Given the description of an element on the screen output the (x, y) to click on. 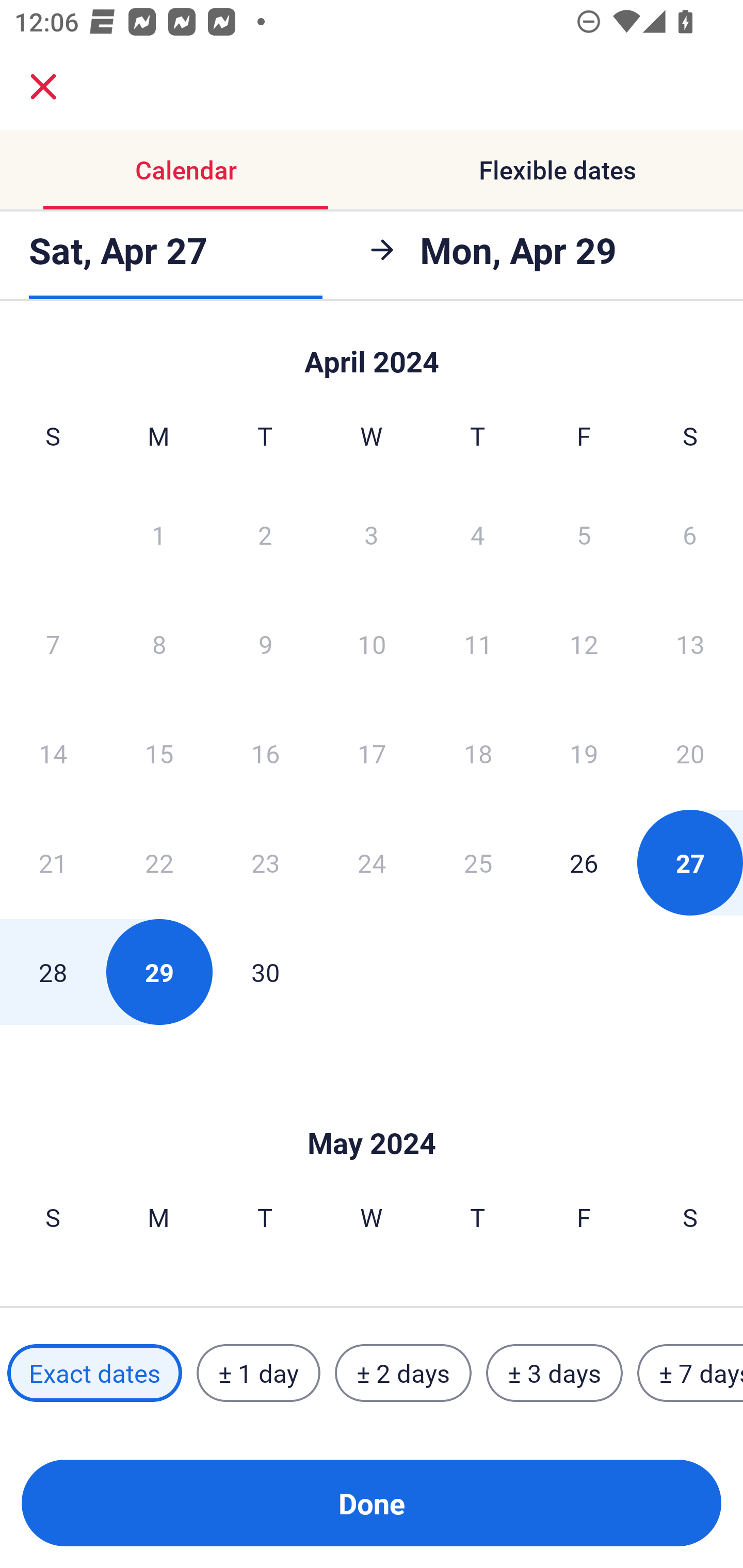
close. (43, 86)
Flexible dates (557, 170)
Skip to Done (371, 352)
1 Monday, April 1, 2024 (158, 534)
2 Tuesday, April 2, 2024 (264, 534)
3 Wednesday, April 3, 2024 (371, 534)
4 Thursday, April 4, 2024 (477, 534)
5 Friday, April 5, 2024 (583, 534)
6 Saturday, April 6, 2024 (689, 534)
7 Sunday, April 7, 2024 (53, 643)
8 Monday, April 8, 2024 (159, 643)
9 Tuesday, April 9, 2024 (265, 643)
10 Wednesday, April 10, 2024 (371, 643)
11 Thursday, April 11, 2024 (477, 643)
12 Friday, April 12, 2024 (584, 643)
13 Saturday, April 13, 2024 (690, 643)
14 Sunday, April 14, 2024 (53, 752)
15 Monday, April 15, 2024 (159, 752)
16 Tuesday, April 16, 2024 (265, 752)
17 Wednesday, April 17, 2024 (371, 752)
18 Thursday, April 18, 2024 (477, 752)
19 Friday, April 19, 2024 (584, 752)
20 Saturday, April 20, 2024 (690, 752)
21 Sunday, April 21, 2024 (53, 862)
22 Monday, April 22, 2024 (159, 862)
23 Tuesday, April 23, 2024 (265, 862)
24 Wednesday, April 24, 2024 (371, 862)
25 Thursday, April 25, 2024 (477, 862)
26 Friday, April 26, 2024 (584, 862)
30 Tuesday, April 30, 2024 (265, 971)
Skip to Done (371, 1112)
Exact dates (94, 1372)
± 1 day (258, 1372)
± 2 days (403, 1372)
± 3 days (553, 1372)
± 7 days (690, 1372)
Done (371, 1502)
